Given the description of an element on the screen output the (x, y) to click on. 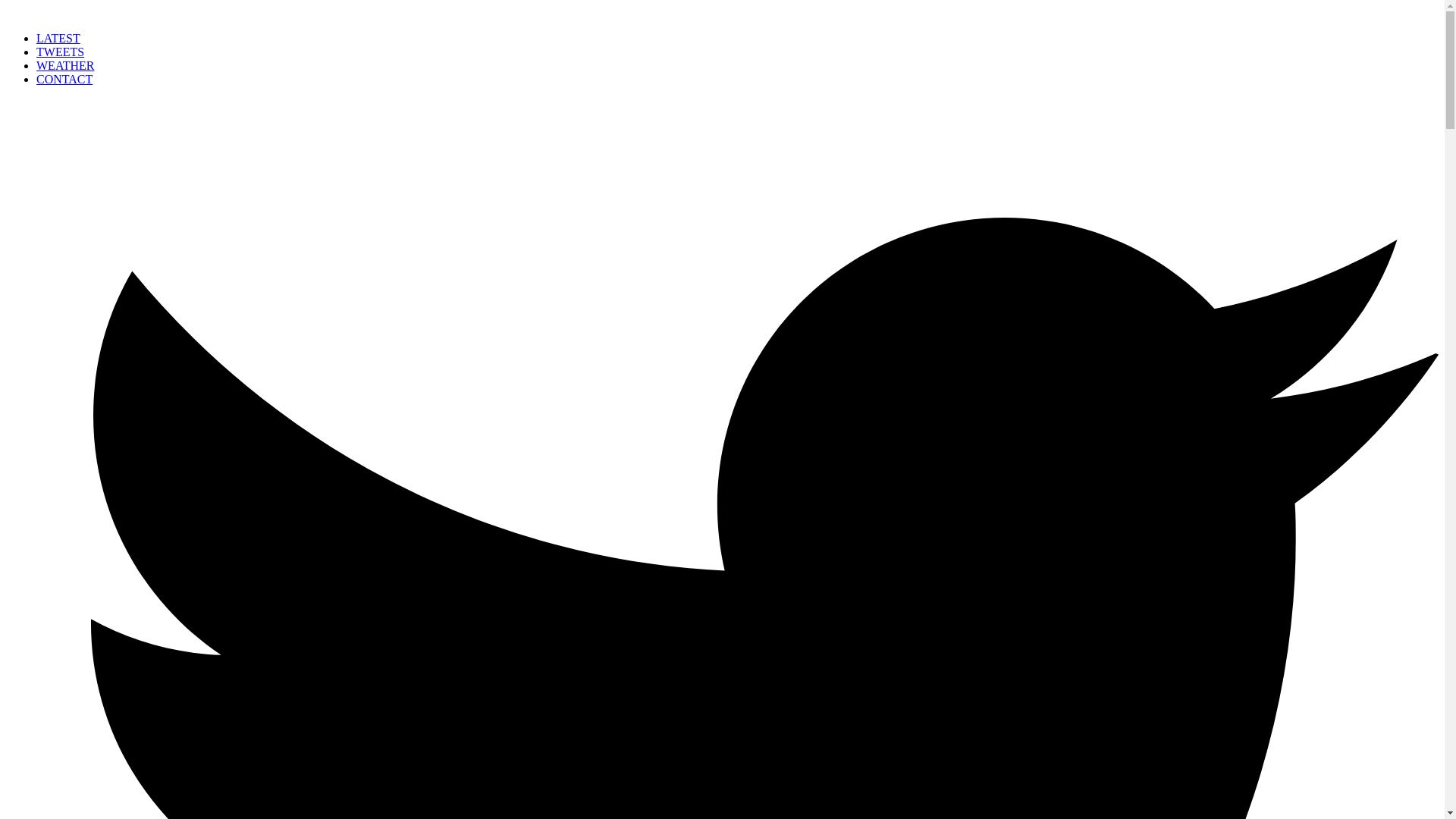
WEATHER (65, 65)
LATEST (58, 38)
TWEETS (60, 51)
CONTACT (64, 78)
